Given the description of an element on the screen output the (x, y) to click on. 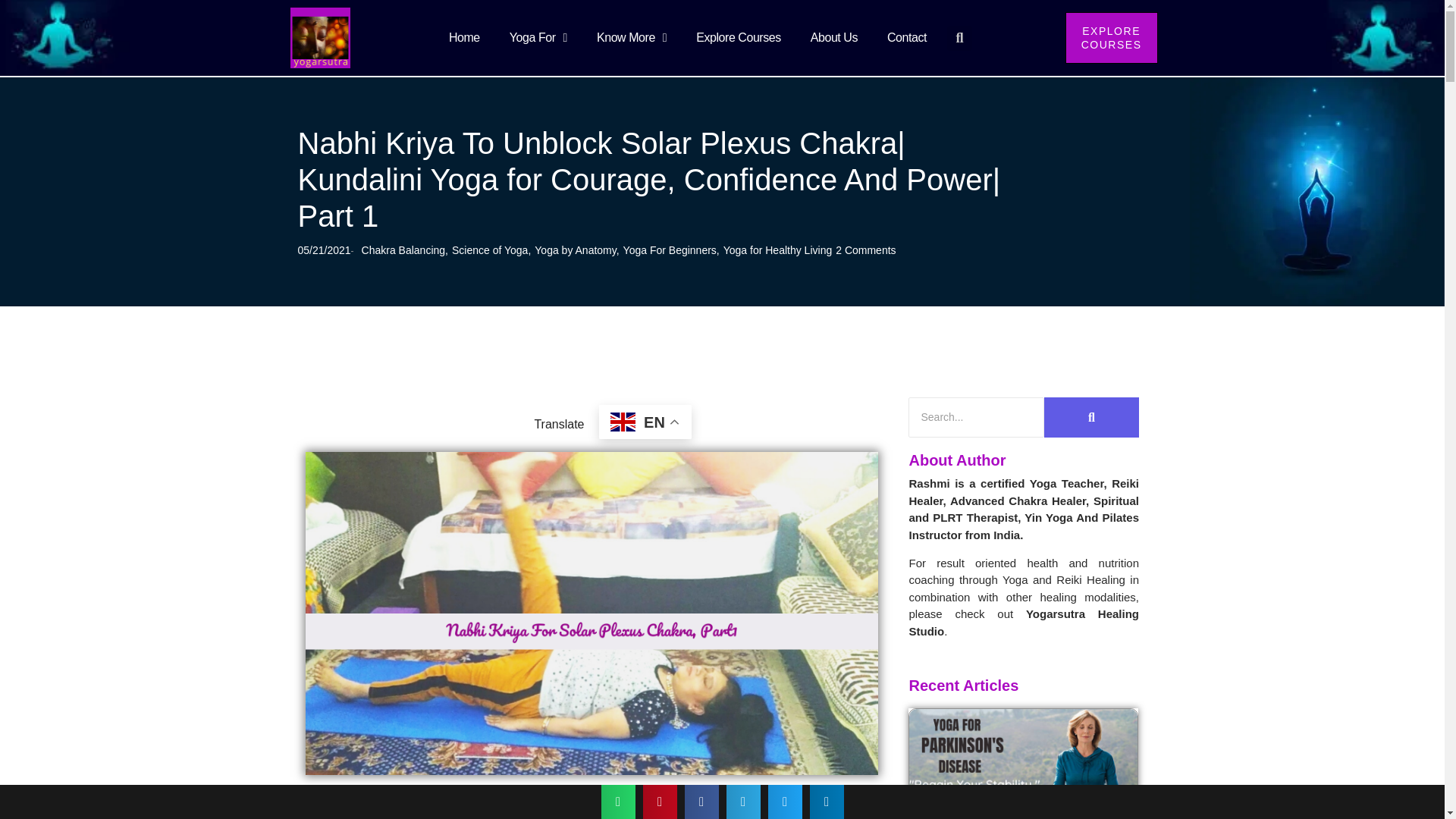
About Us (834, 37)
Yoga For (537, 37)
Search (975, 417)
Explore Courses (738, 37)
Know More (631, 37)
Home (464, 37)
yogarsutra-logo (319, 37)
Contact (906, 37)
